Given the description of an element on the screen output the (x, y) to click on. 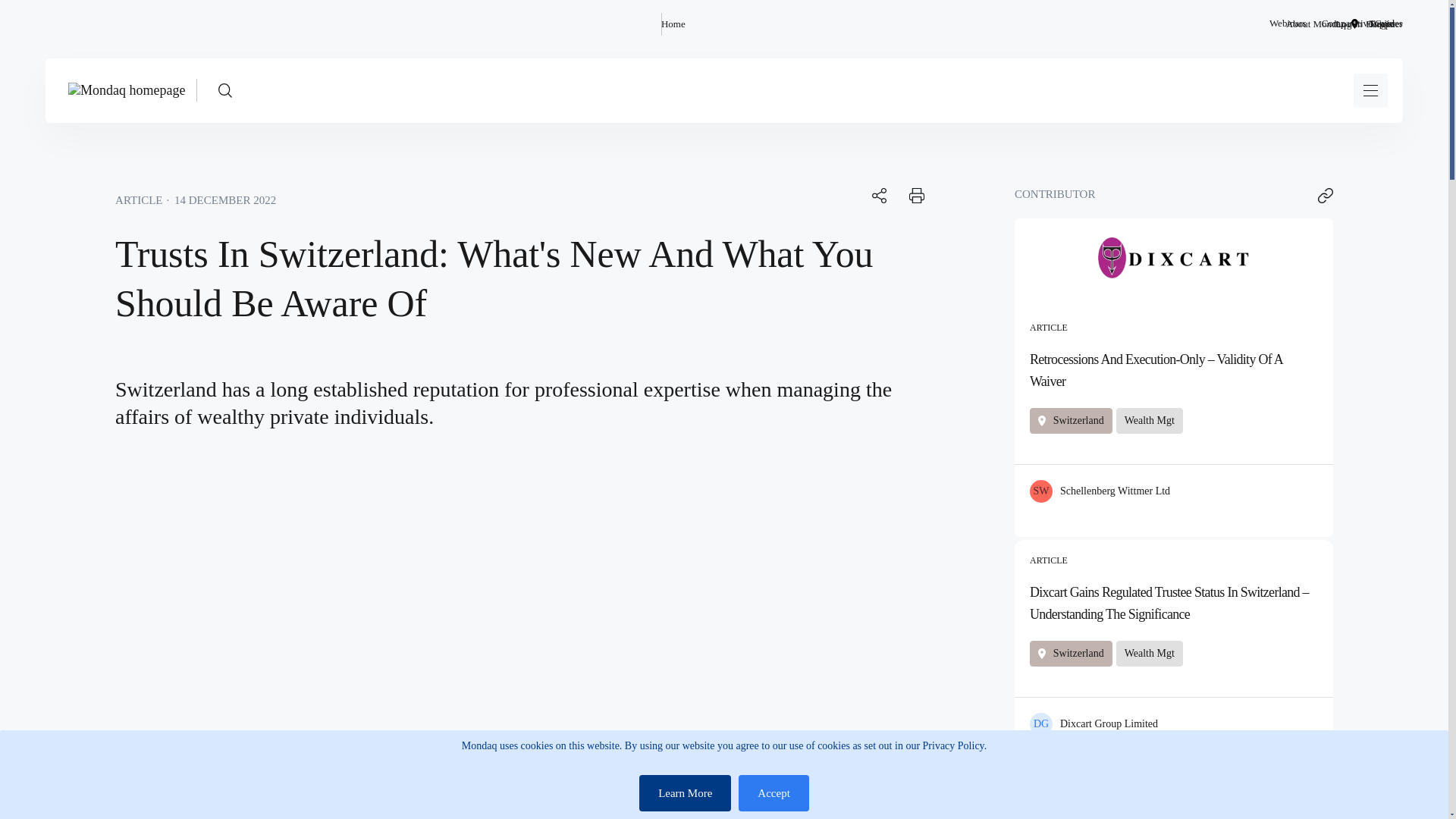
Webinars (1287, 23)
About Mondaq (1315, 24)
Comparative Guides (1362, 23)
Home (673, 24)
